Given the description of an element on the screen output the (x, y) to click on. 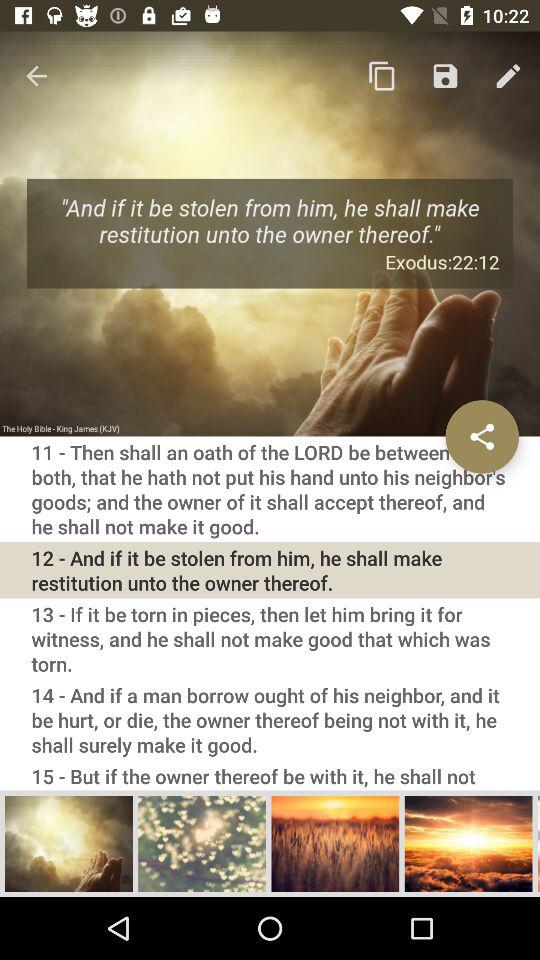
turn on the item at the top left corner (36, 75)
